Given the description of an element on the screen output the (x, y) to click on. 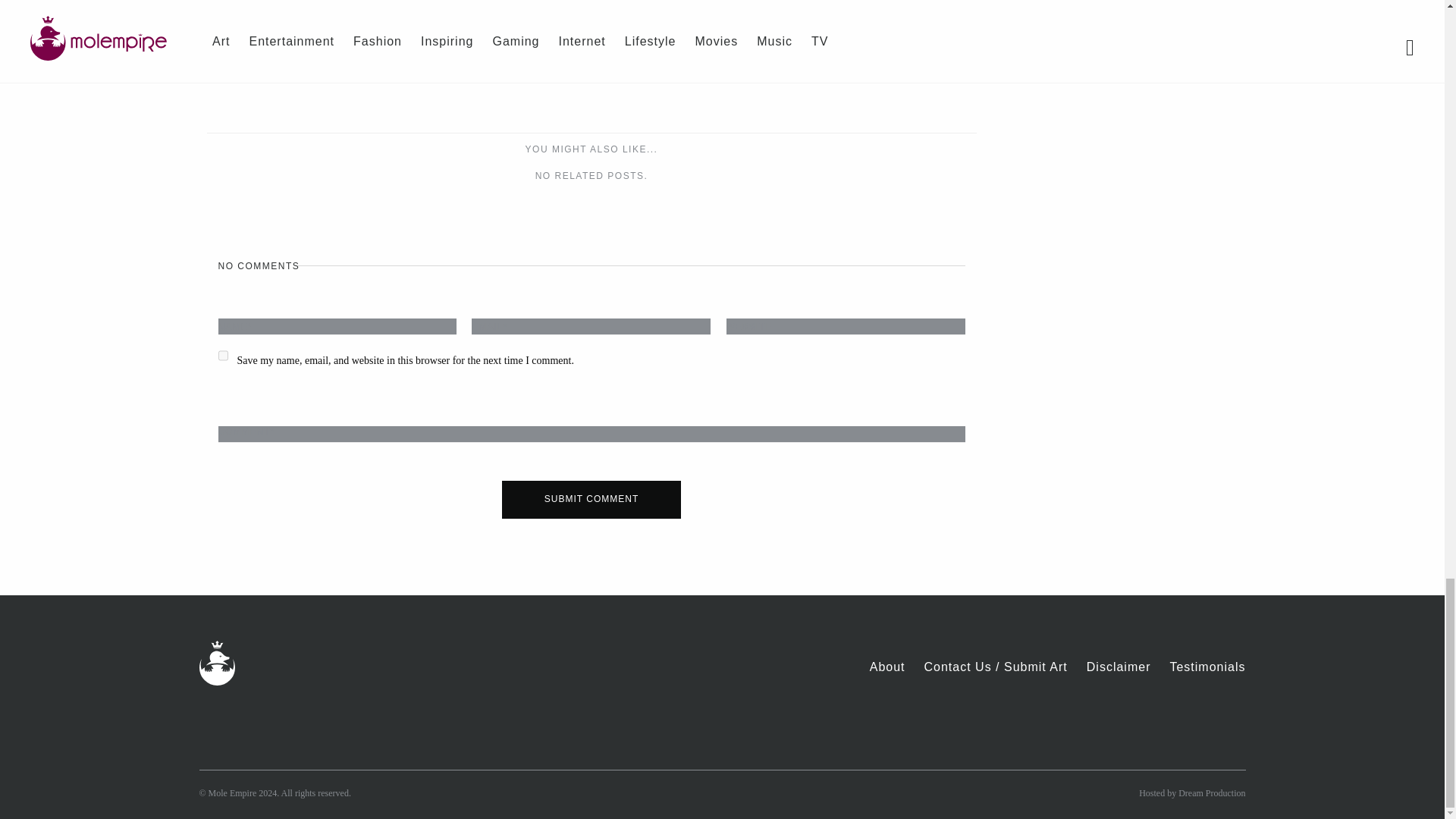
Submit comment (591, 499)
Submit comment (591, 499)
Andrei (441, 31)
Andrei (447, 6)
Mitch Moose (782, 31)
